Given the description of an element on the screen output the (x, y) to click on. 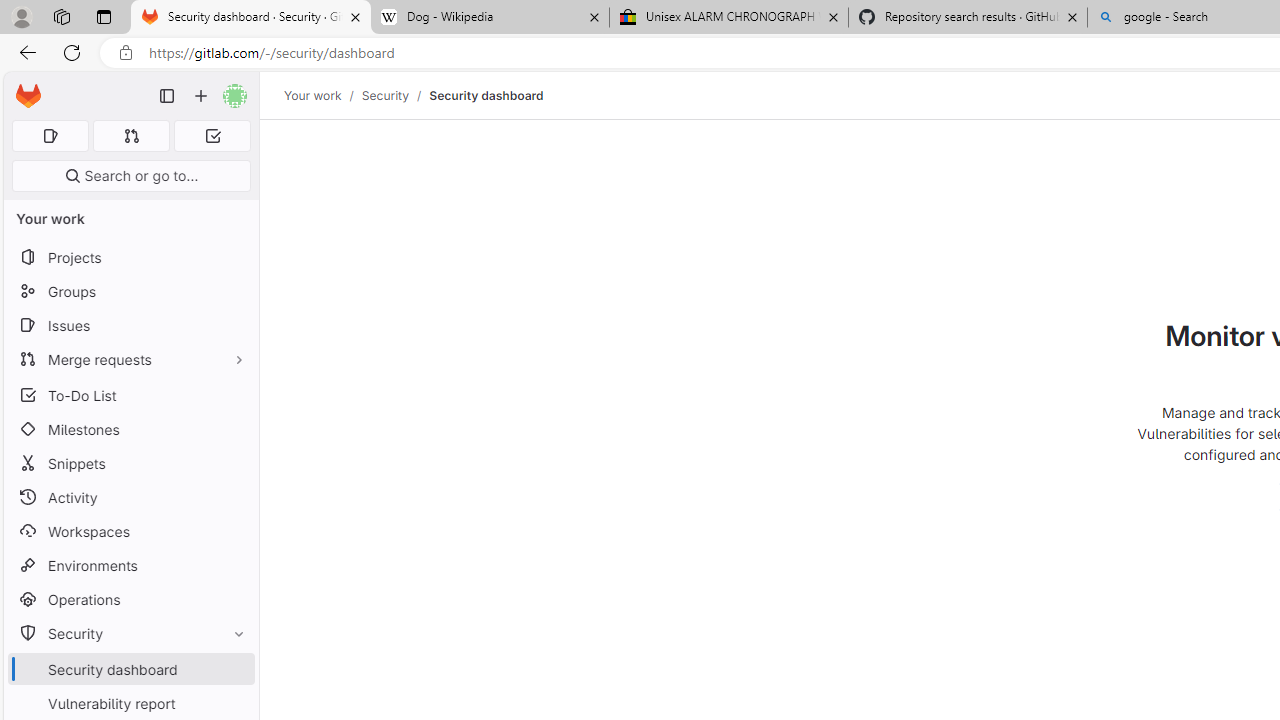
Security dashboard (486, 95)
Assigned issues 0 (50, 136)
Dog - Wikipedia (490, 17)
Homepage (27, 96)
